Given the description of an element on the screen output the (x, y) to click on. 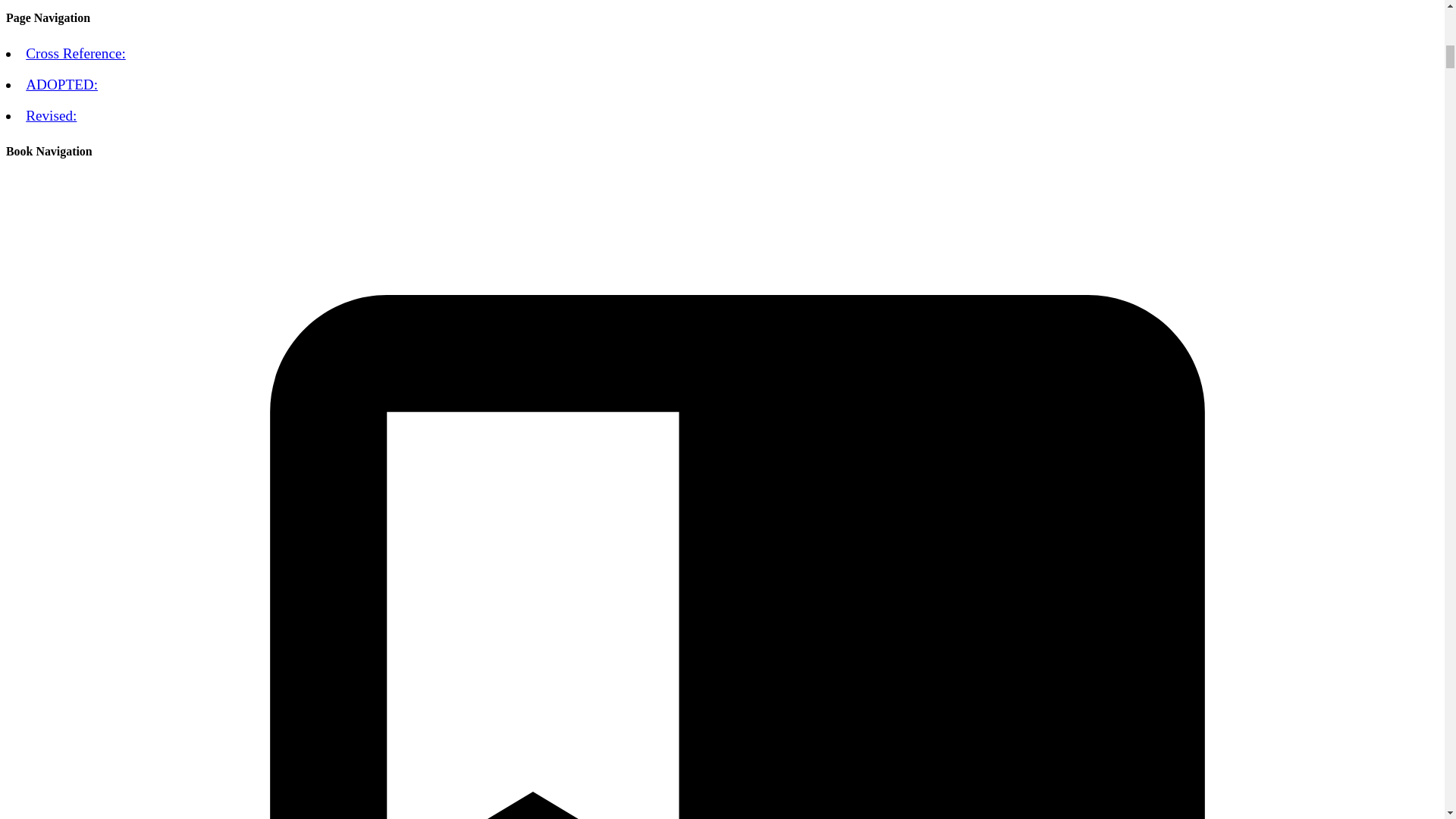
ADOPTED: (61, 84)
Cross Reference: (75, 53)
Revised: (51, 115)
